Given the description of an element on the screen output the (x, y) to click on. 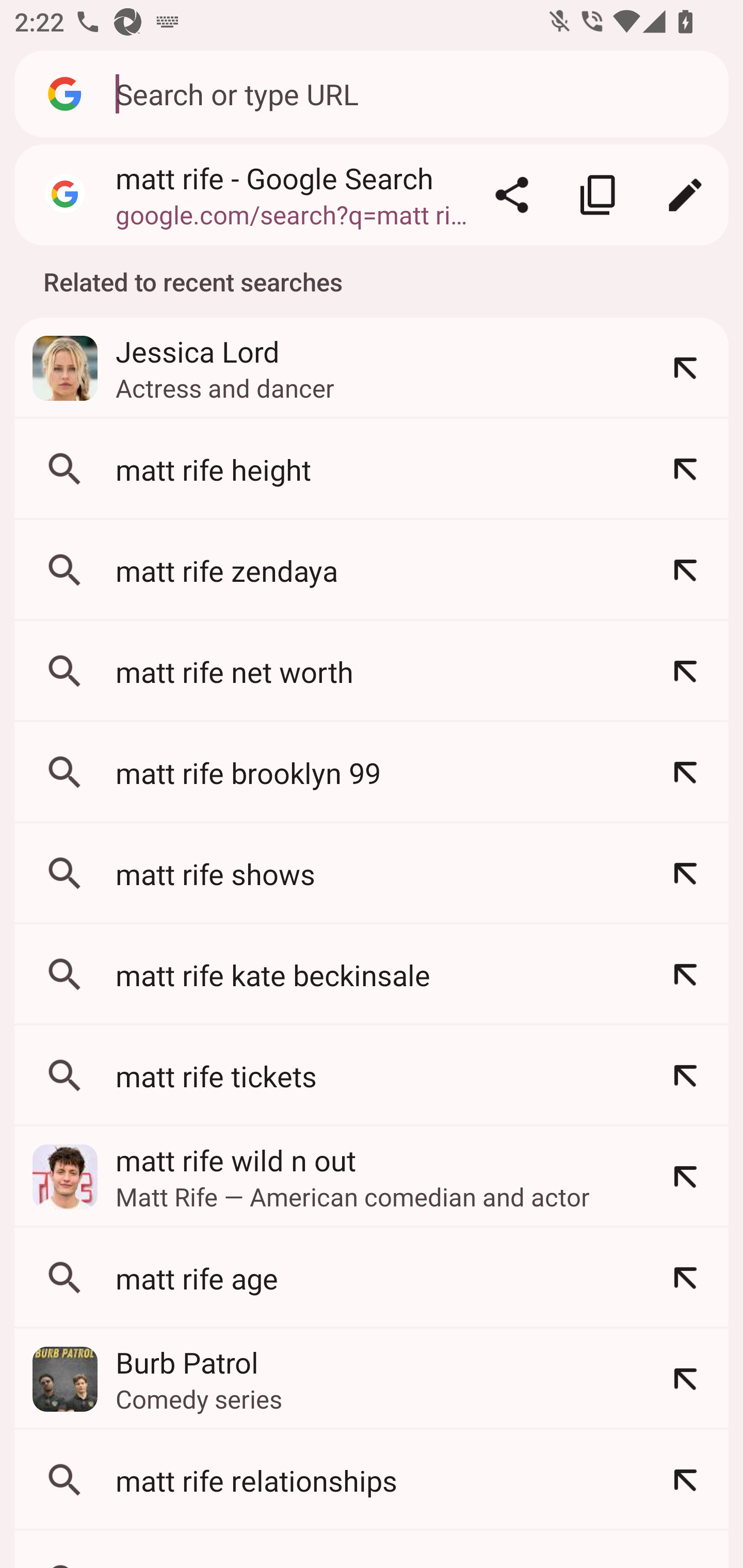
Search or type URL (410, 92)
Share… (511, 195)
Copy link (598, 195)
Edit (684, 195)
Refine: jessica lord (684, 368)
matt rife height Refine: matt rife height (371, 469)
Refine: matt rife height (684, 469)
matt rife zendaya Refine: matt rife zendaya (371, 570)
Refine: matt rife zendaya (684, 570)
matt rife net worth Refine: matt rife net worth (371, 671)
Refine: matt rife net worth (684, 671)
Refine: matt rife brooklyn 99 (684, 772)
matt rife shows Refine: matt rife shows (371, 873)
Refine: matt rife shows (684, 873)
Refine: matt rife kate beckinsale (684, 974)
matt rife tickets Refine: matt rife tickets (371, 1075)
Refine: matt rife tickets (684, 1075)
Refine: matt rife wild n out (684, 1176)
matt rife age Refine: matt rife age (371, 1277)
Refine: matt rife age (684, 1277)
Burb Patrol Comedy series Refine: burb patrol (371, 1379)
Refine: burb patrol (684, 1379)
Refine: matt rife relationships (684, 1480)
